Given the description of an element on the screen output the (x, y) to click on. 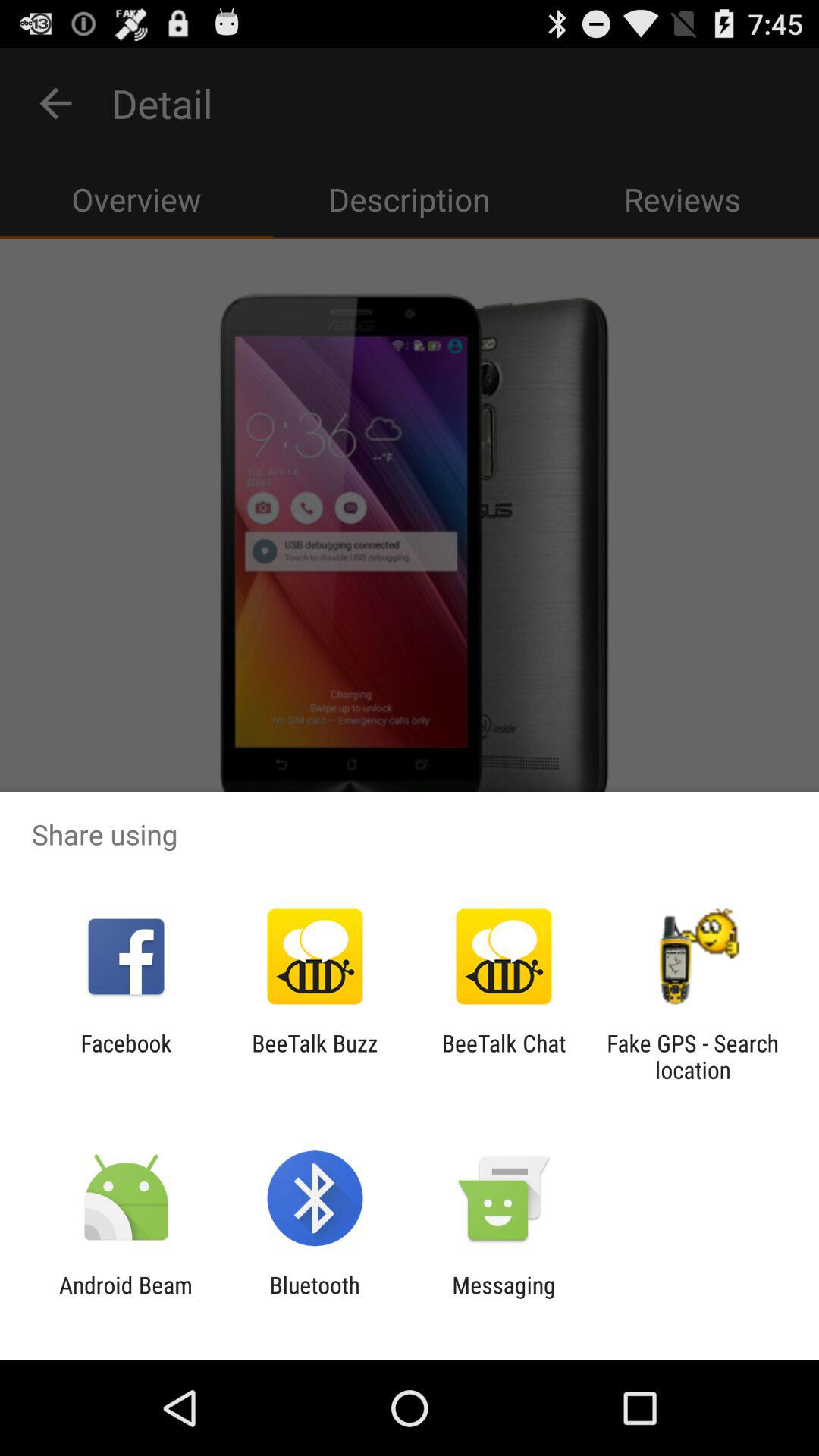
turn off the item next to the beetalk chat item (692, 1056)
